Given the description of an element on the screen output the (x, y) to click on. 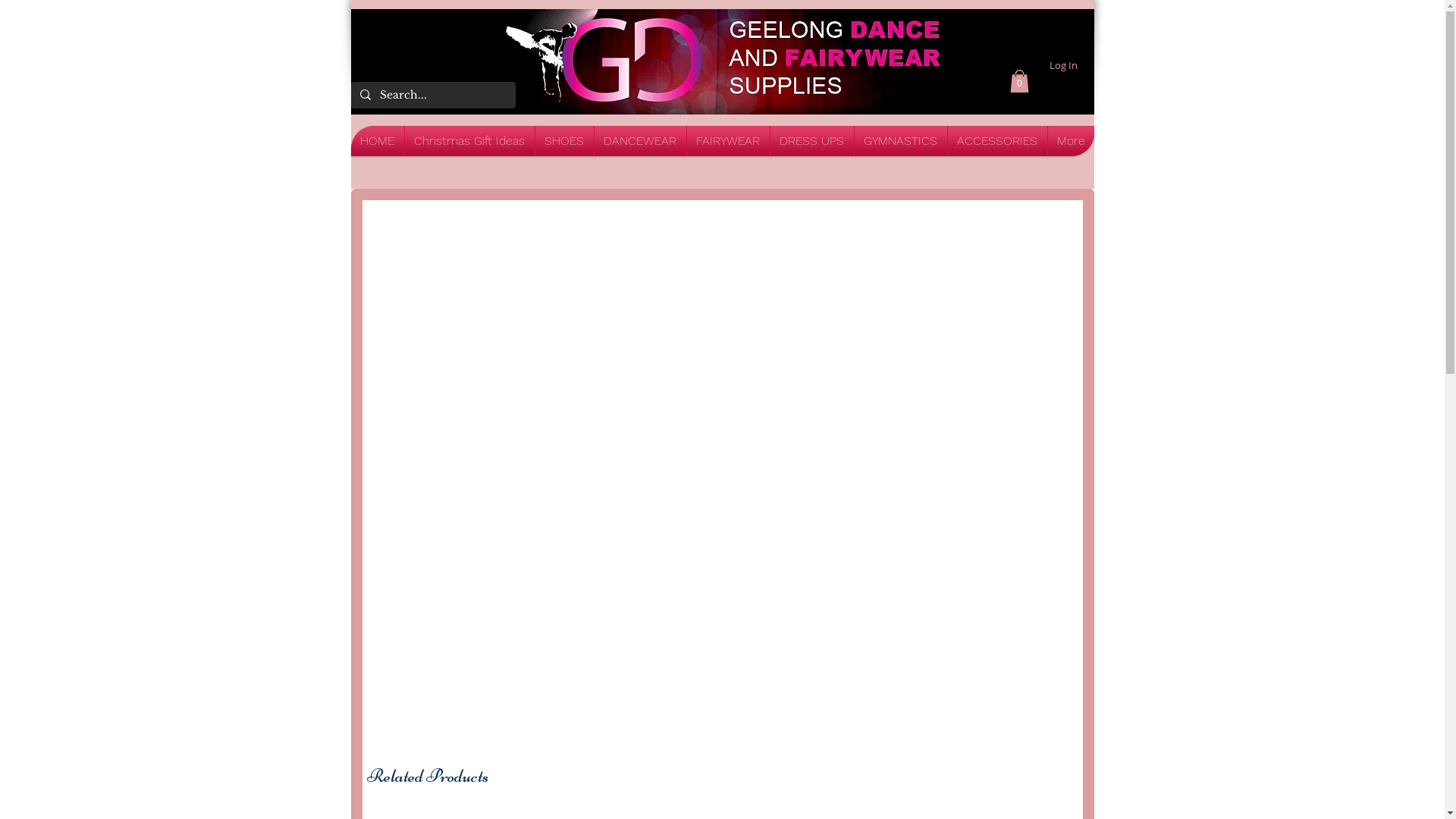
DRESS UPS Element type: text (811, 140)
DANCEWEAR Element type: text (640, 140)
Christmas Gift Ideas Element type: text (469, 140)
0 Element type: text (1019, 80)
bg-master.jpg Element type: hover (721, 61)
Log In Element type: text (1063, 65)
ACCESSORIES Element type: text (997, 140)
FAIRYWEAR Element type: text (728, 140)
GYMNASTICS Element type: text (899, 140)
SHOES Element type: text (564, 140)
HOME Element type: text (376, 140)
